Given the description of an element on the screen output the (x, y) to click on. 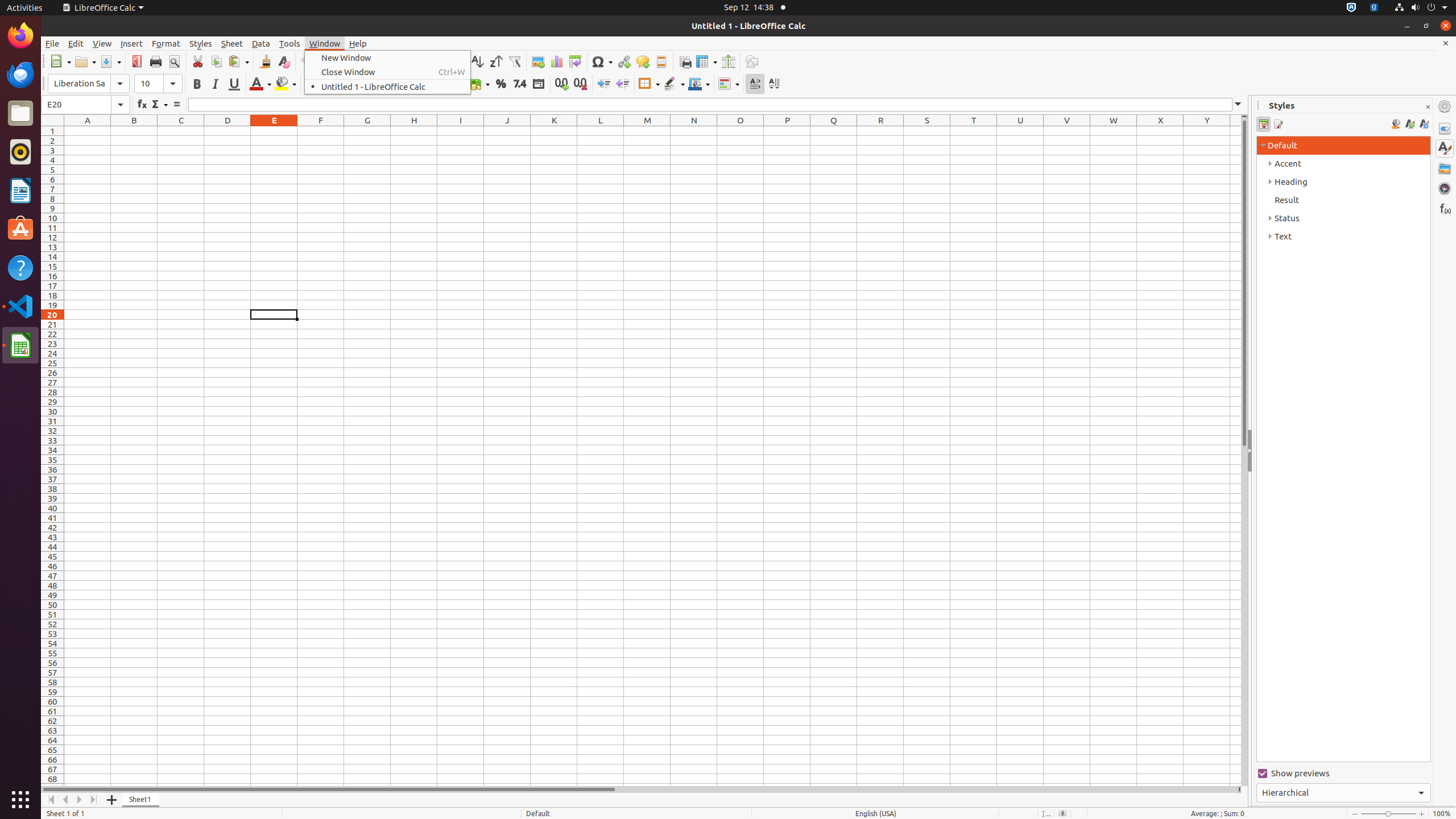
Show Applications Element type: toggle-button (20, 799)
Chart Element type: push-button (556, 61)
Page Styles Element type: push-button (1277, 123)
E1 Element type: table-cell (273, 130)
Ubuntu Software Element type: push-button (20, 229)
